Given the description of an element on the screen output the (x, y) to click on. 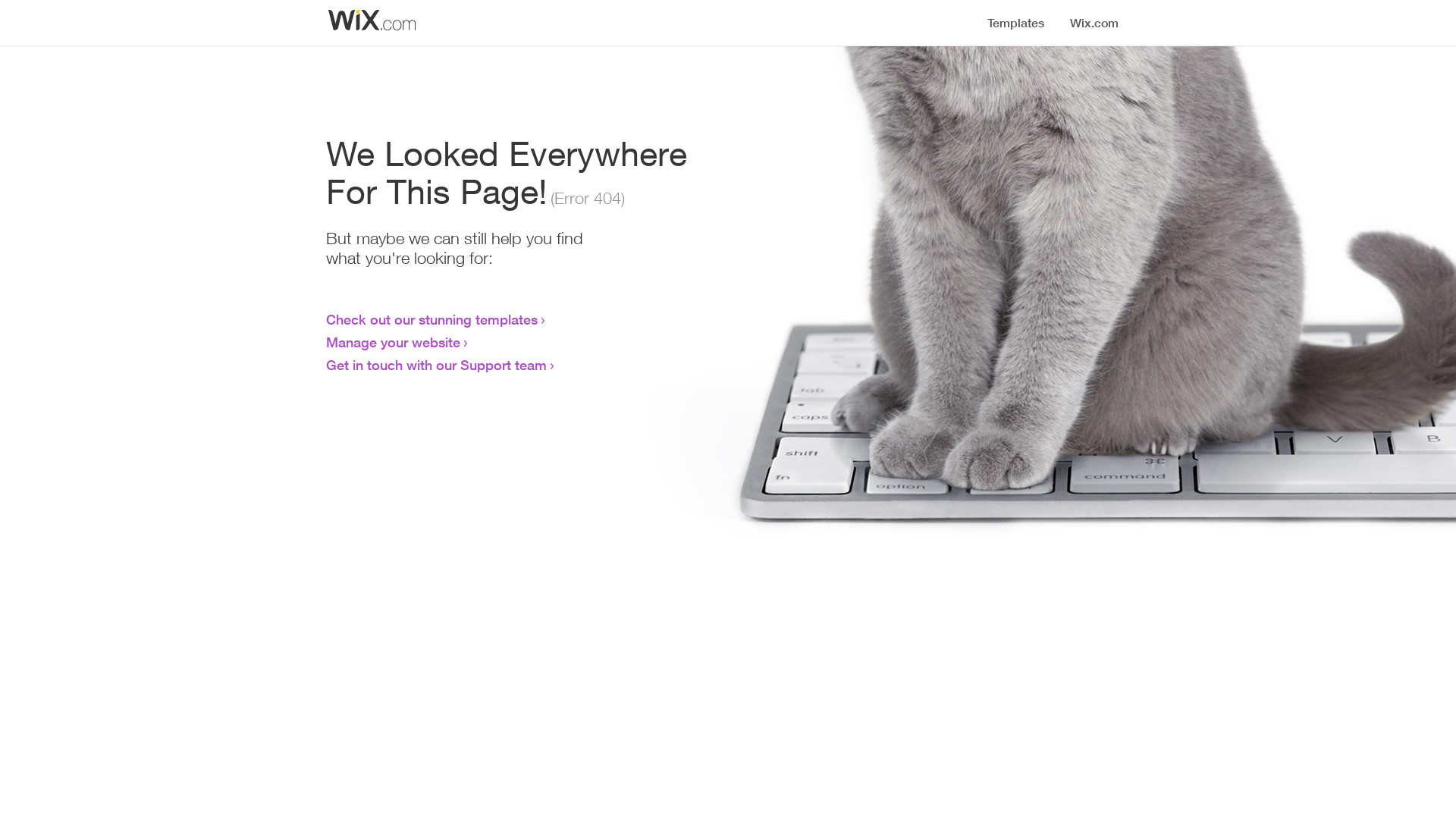
Check out our stunning templates Element type: text (431, 318)
Manage your website Element type: text (393, 341)
Get in touch with our Support team Element type: text (436, 364)
